Given the description of an element on the screen output the (x, y) to click on. 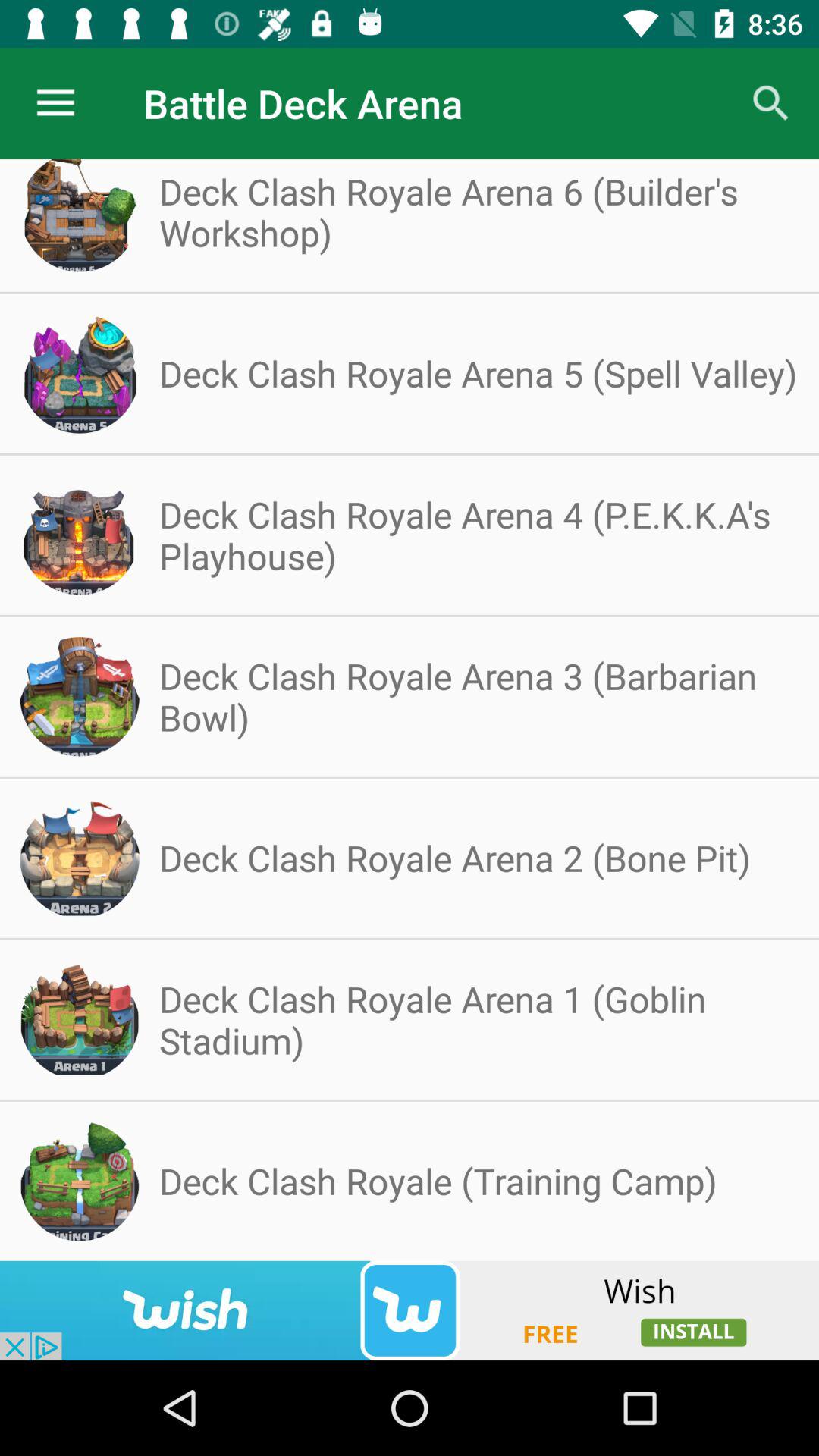
screen page (409, 1310)
